Given the description of an element on the screen output the (x, y) to click on. 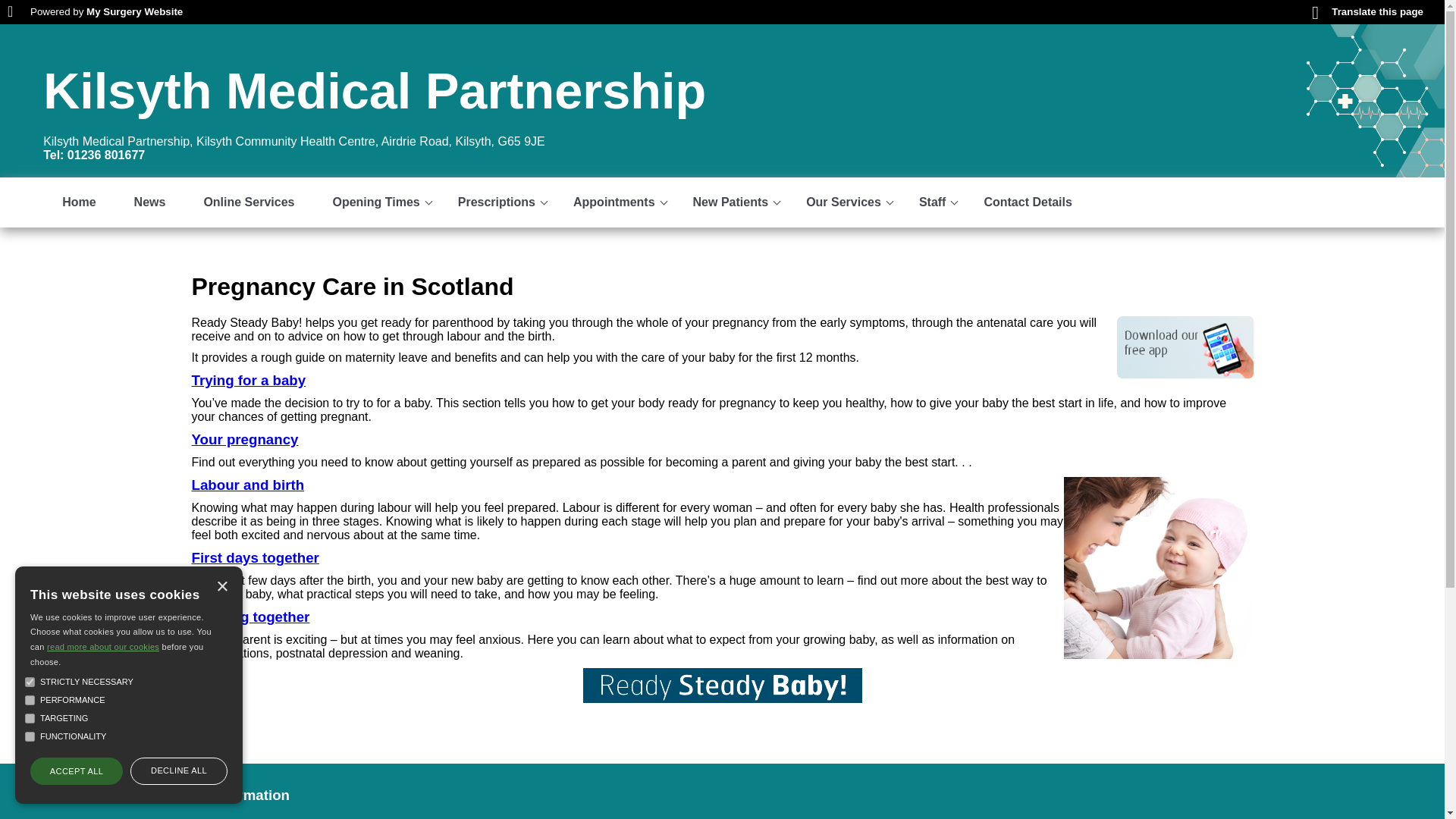
strict (29, 682)
News (149, 202)
DECLINE ALL (179, 770)
Online Services (248, 202)
Prescriptions (496, 202)
Our Services (843, 202)
Translate this page (1367, 11)
My Surgery Website (134, 11)
Kilsyth Medical Partnership (374, 90)
Opening Times (375, 202)
New Patients (730, 202)
Appointments (614, 202)
Kilsyth Medical Partnership (374, 90)
read more about our cookies (102, 646)
